Given the description of an element on the screen output the (x, y) to click on. 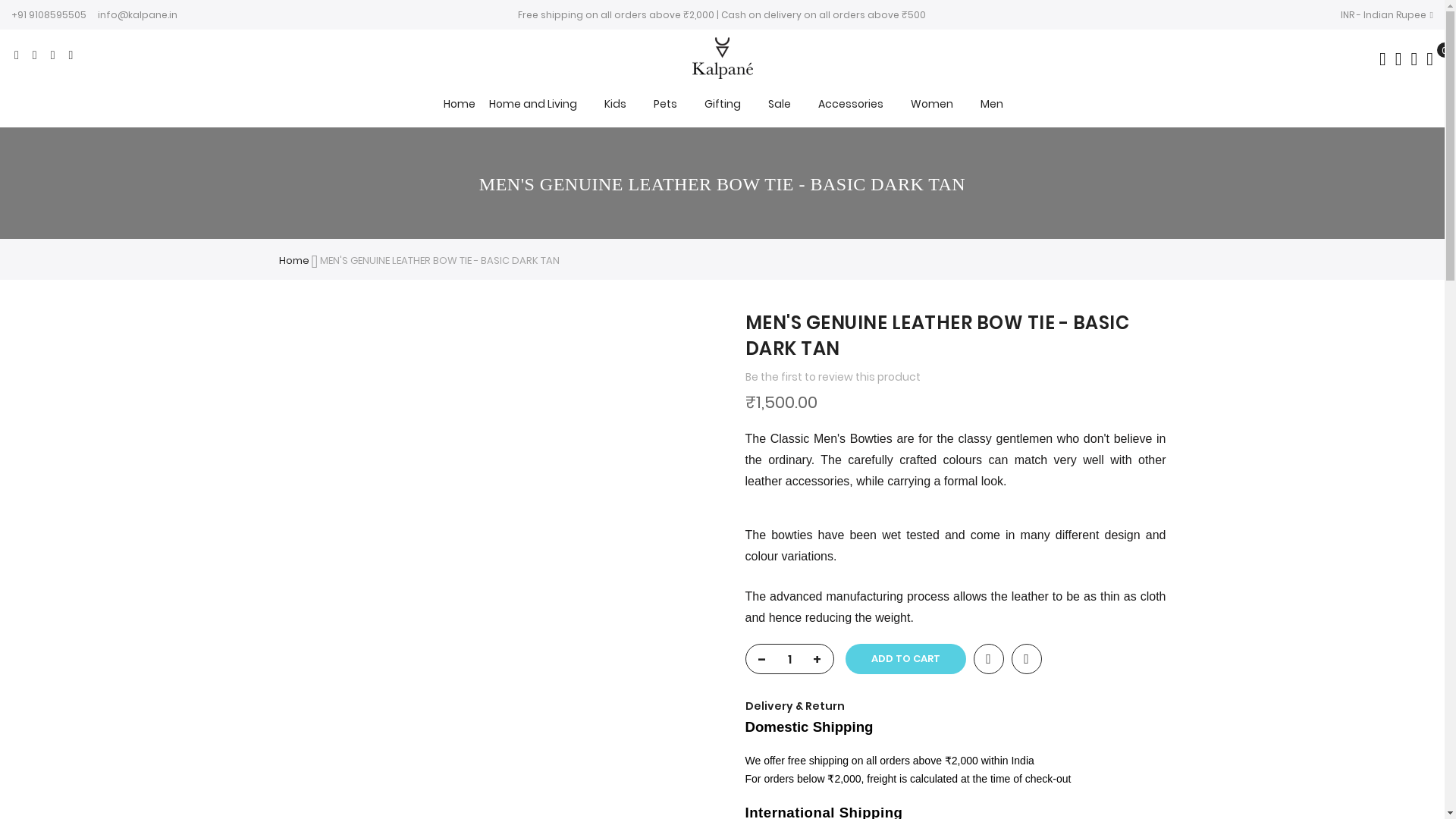
Home (458, 103)
Qty (788, 659)
megamaart (721, 70)
Add to Cart (904, 658)
Go to Home Page (293, 260)
Home and Living (531, 103)
1 (788, 659)
